Given the description of an element on the screen output the (x, y) to click on. 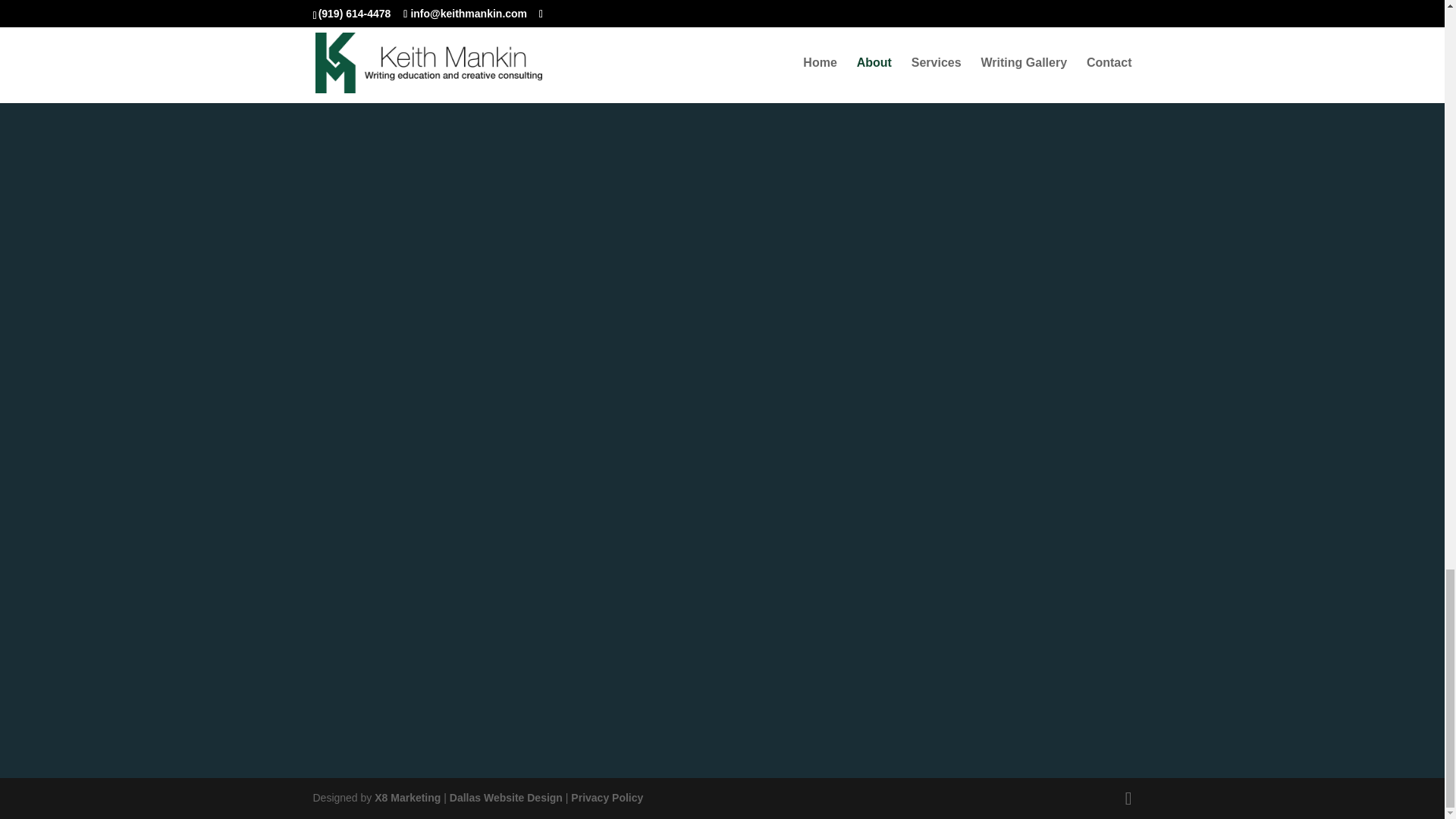
Privacy Policy (606, 797)
Dallas Website Design (505, 797)
X8 Marketing (407, 797)
Dallas Website Design (505, 797)
